Given the description of an element on the screen output the (x, y) to click on. 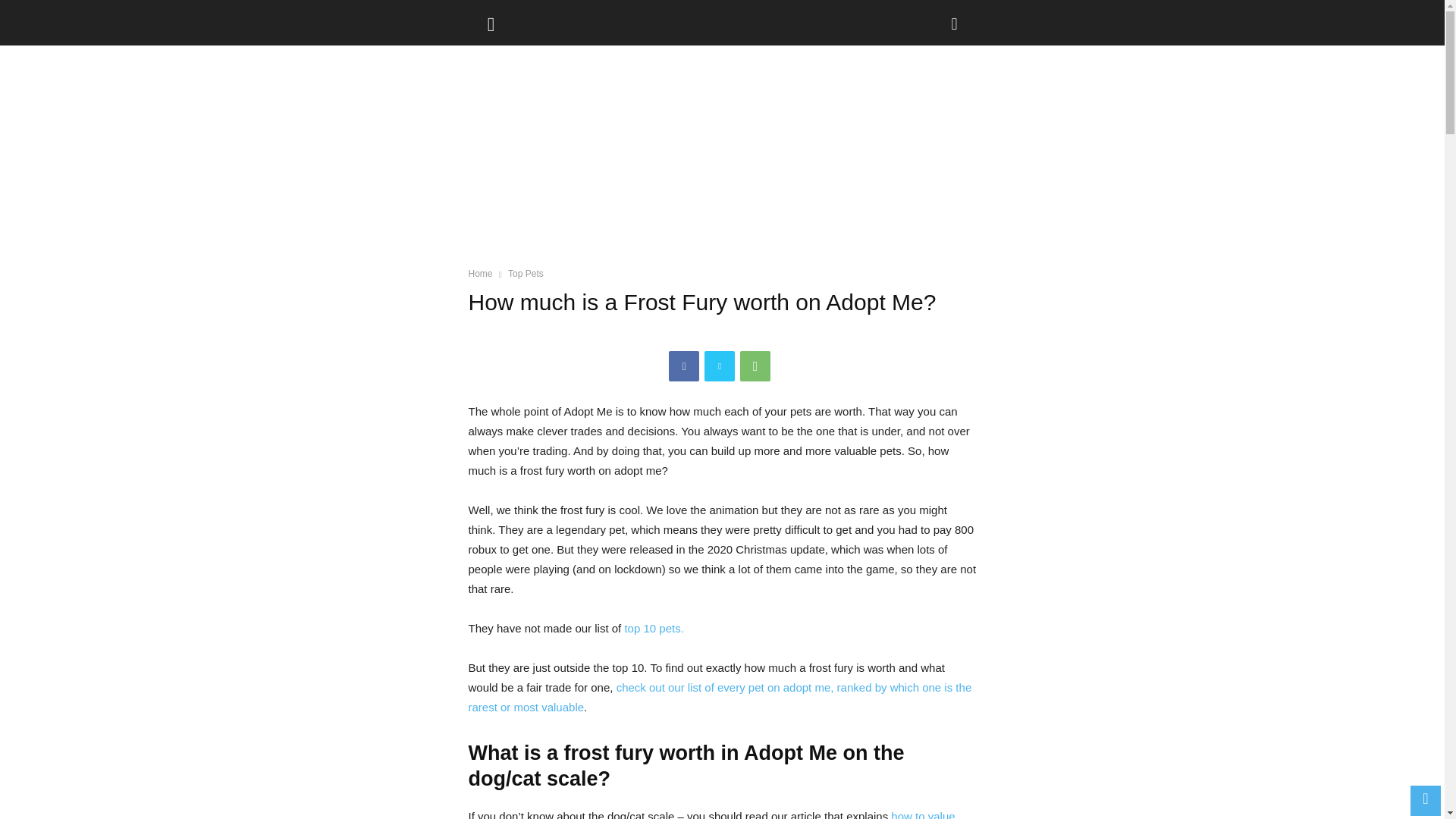
Top Pets (525, 273)
View all posts in Top Pets (525, 273)
Home (480, 273)
top 10 pets. (653, 627)
how to value pets on Adopt Me (711, 814)
